Given the description of an element on the screen output the (x, y) to click on. 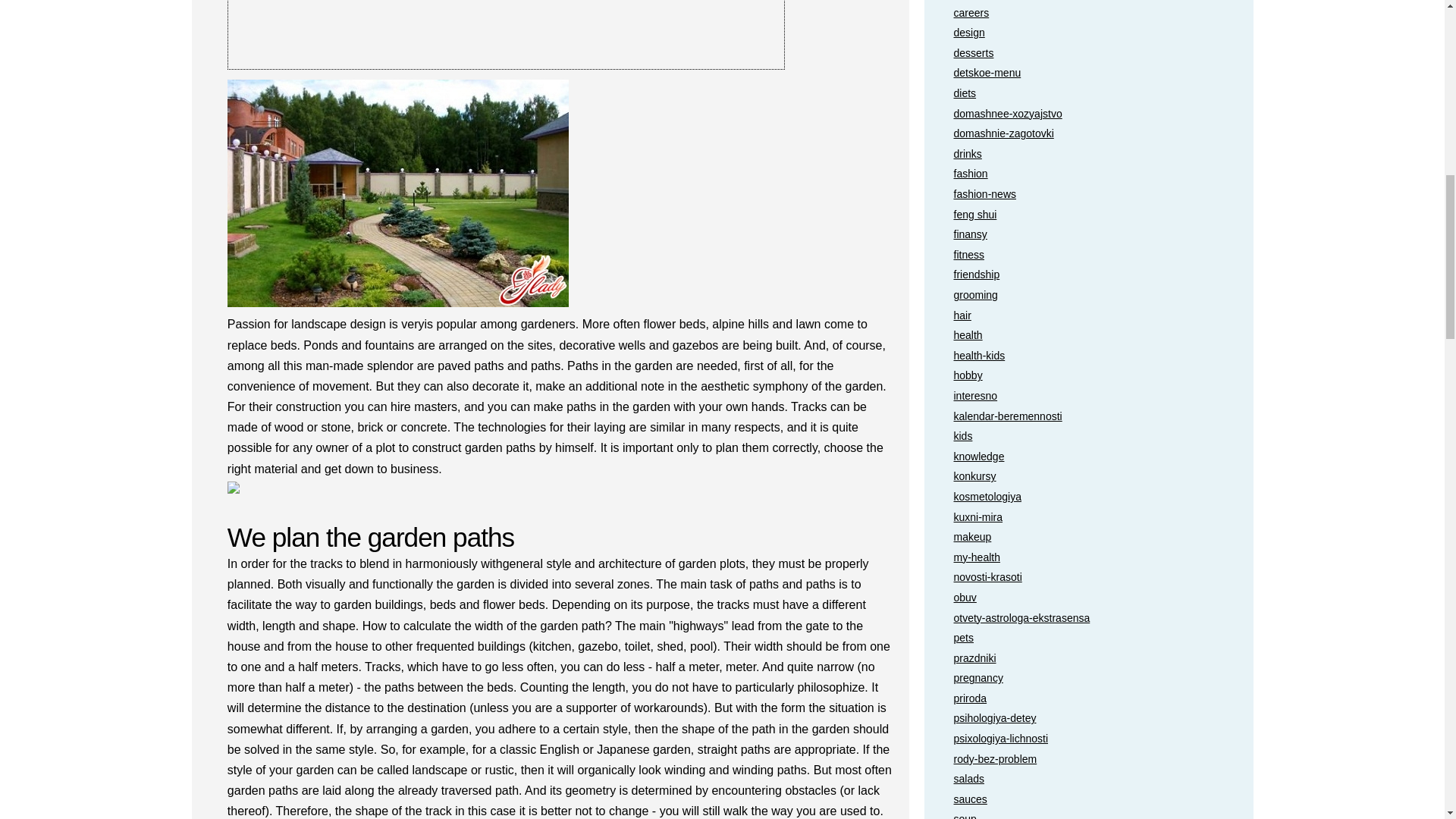
paths in the garden with their own hands (398, 195)
Advertisement (507, 35)
desserts (973, 52)
design (969, 32)
careers (971, 12)
